Given the description of an element on the screen output the (x, y) to click on. 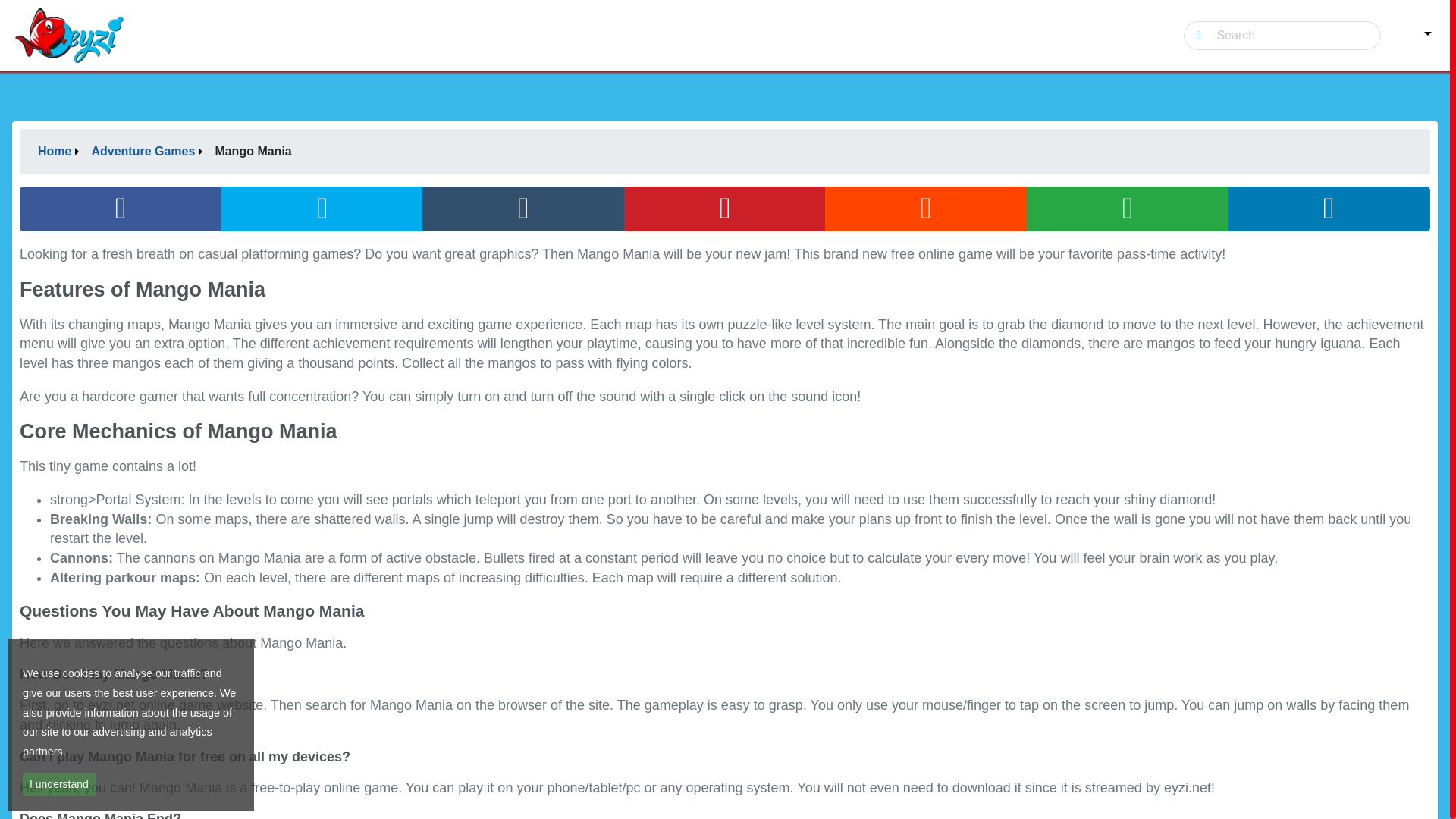
Home (57, 151)
Advertisement (724, 57)
Adventure Games (146, 151)
